Given the description of an element on the screen output the (x, y) to click on. 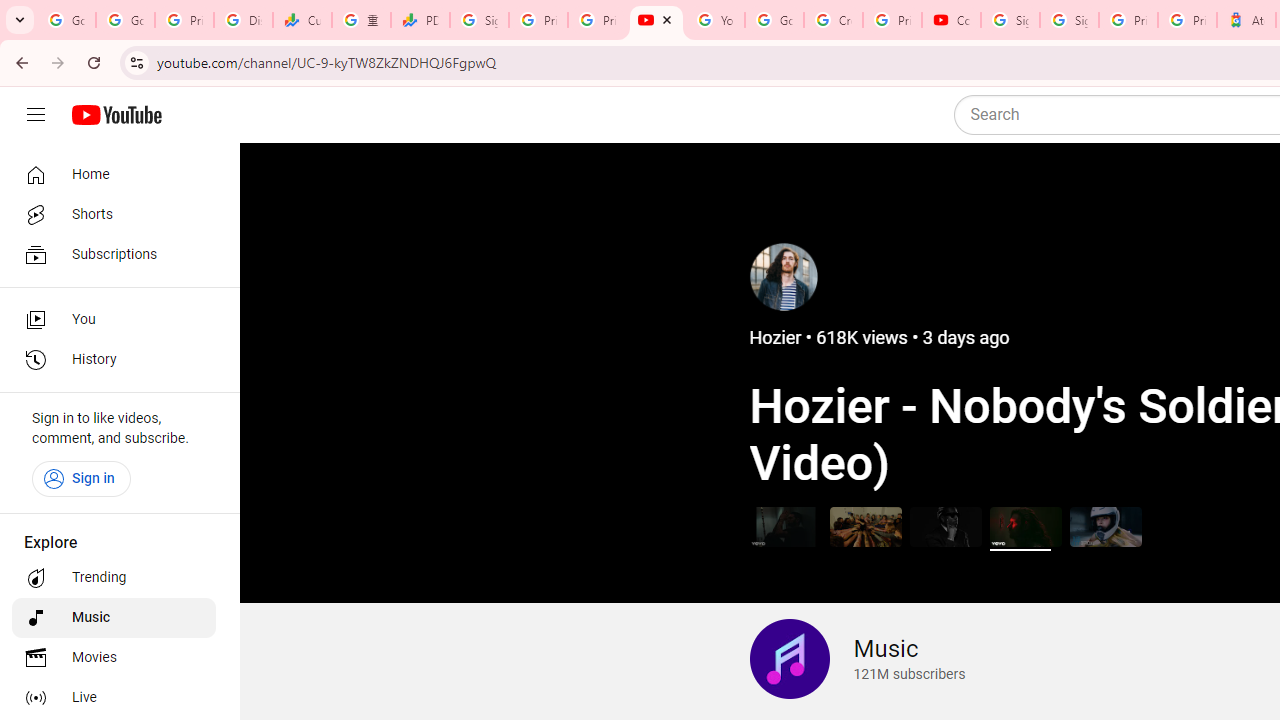
Currencies - Google Finance (301, 20)
Subscriptions (113, 254)
Content Creator Programs & Opportunities - YouTube Creators (950, 20)
A$AP Rocky - HIGHJACK (Official Video) (944, 526)
YouTube (715, 20)
Sign in - Google Accounts (1069, 20)
